Given the description of an element on the screen output the (x, y) to click on. 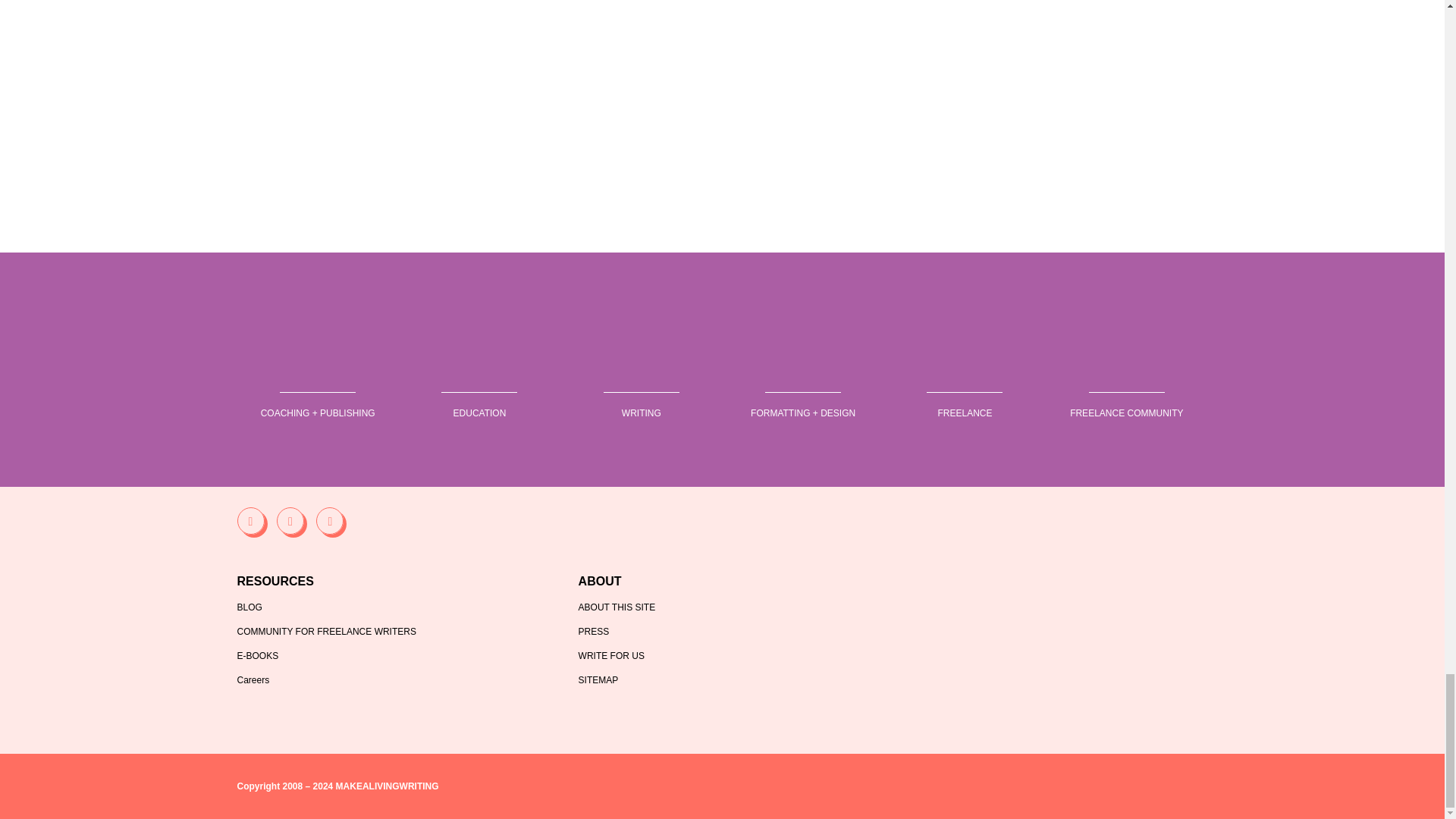
the-book-designer.png (802, 376)
self-publishing-school.png (479, 376)
make-a-living-writing.png (964, 376)
the-write-life.png (641, 376)
self-publishing.png (317, 376)
the-spcom-platform (721, 330)
freelance-writers-den.png (1126, 376)
